Given the description of an element on the screen output the (x, y) to click on. 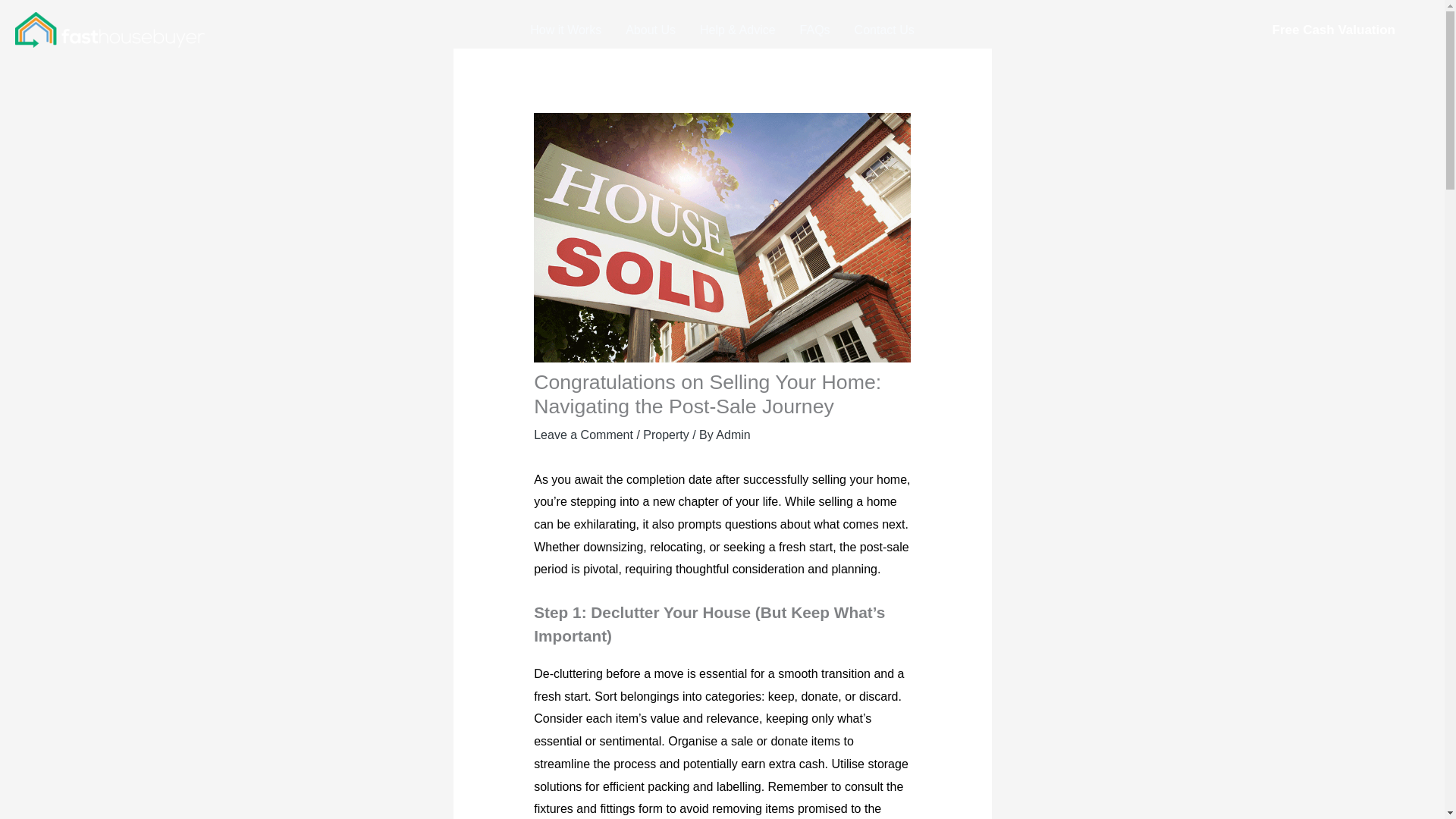
Contact Us (884, 29)
Free Cash Valuation (1333, 29)
Property (665, 434)
FAQs (815, 29)
About Us (649, 29)
How it Works (565, 29)
Leave a Comment (583, 434)
Admin (732, 434)
View all posts by Admin (732, 434)
